Given the description of an element on the screen output the (x, y) to click on. 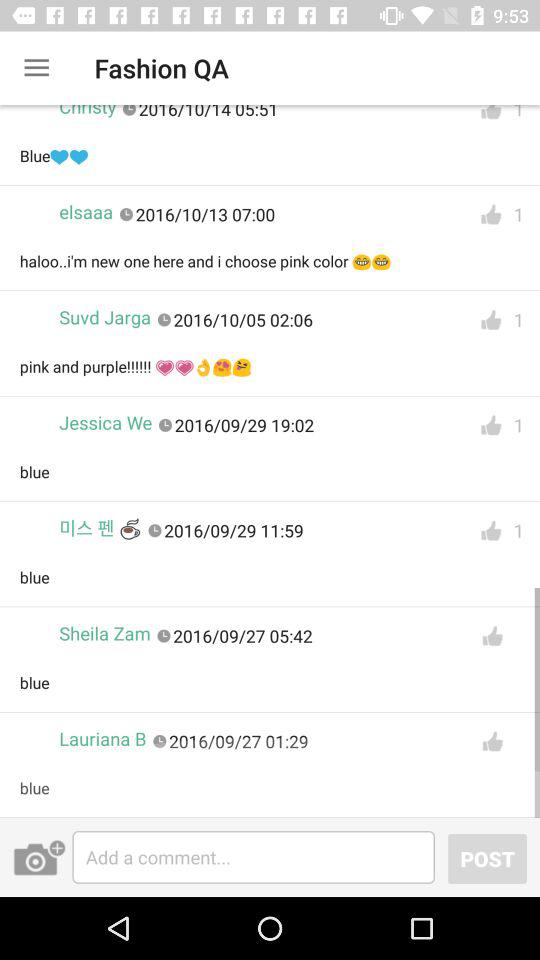
like a comment (491, 117)
